Given the description of an element on the screen output the (x, y) to click on. 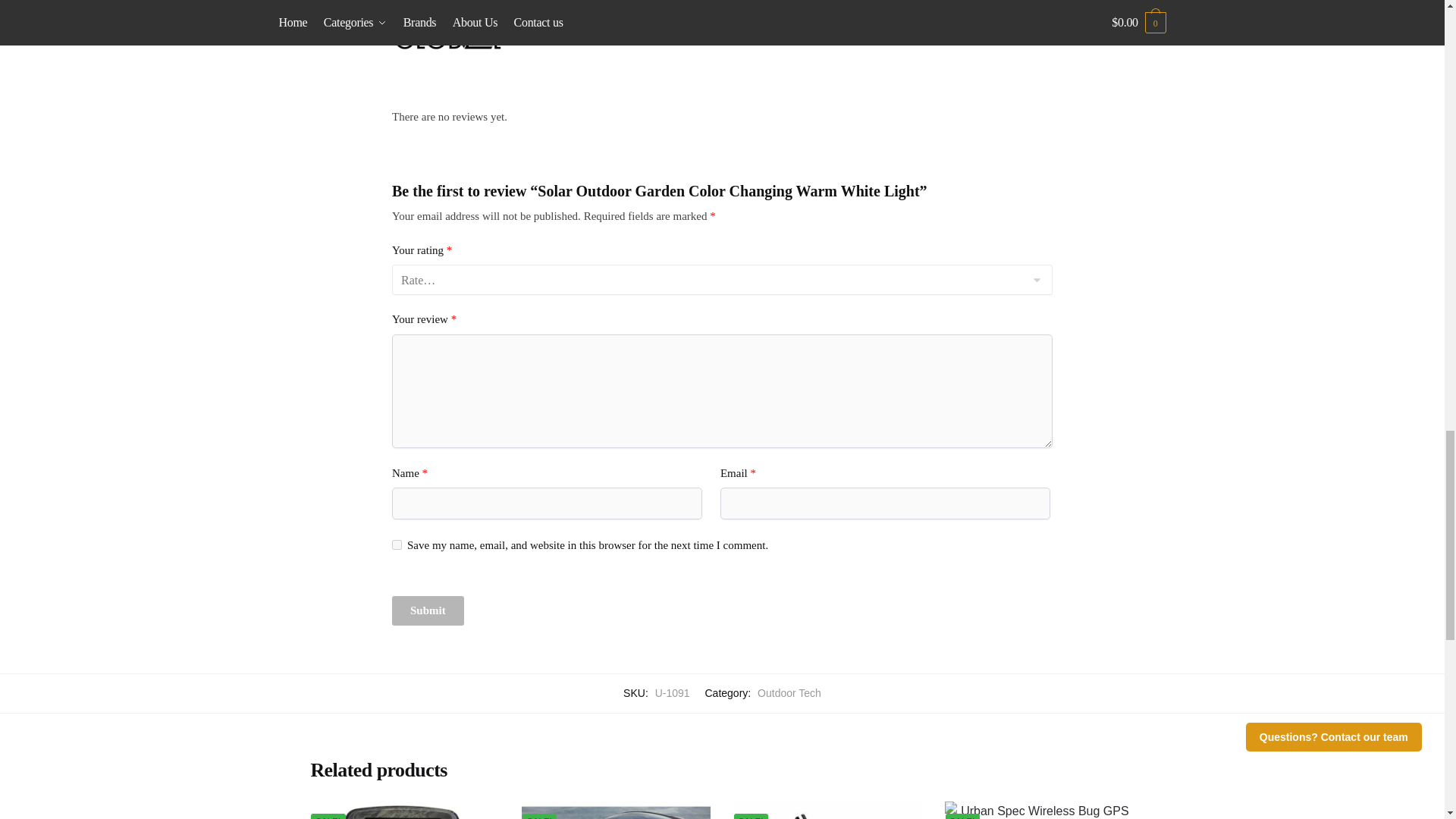
Submit (427, 610)
yes (396, 544)
Urban Global (721, 42)
